Given the description of an element on the screen output the (x, y) to click on. 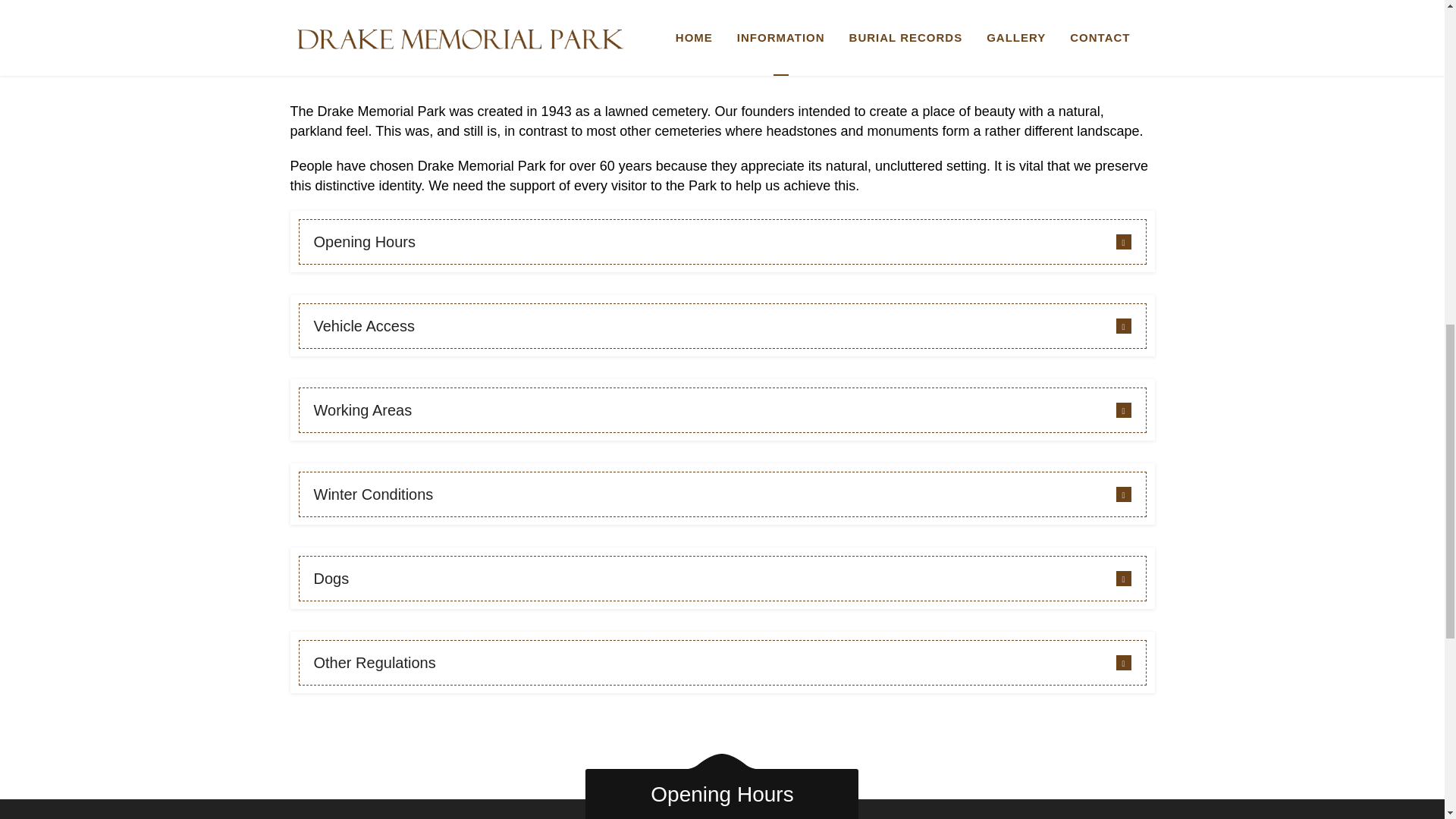
Other Regulations (722, 662)
Vehicle Access (722, 325)
Opening Hours (722, 241)
Working Areas (722, 409)
Dogs (722, 578)
Winter Conditions (722, 494)
